Given the description of an element on the screen output the (x, y) to click on. 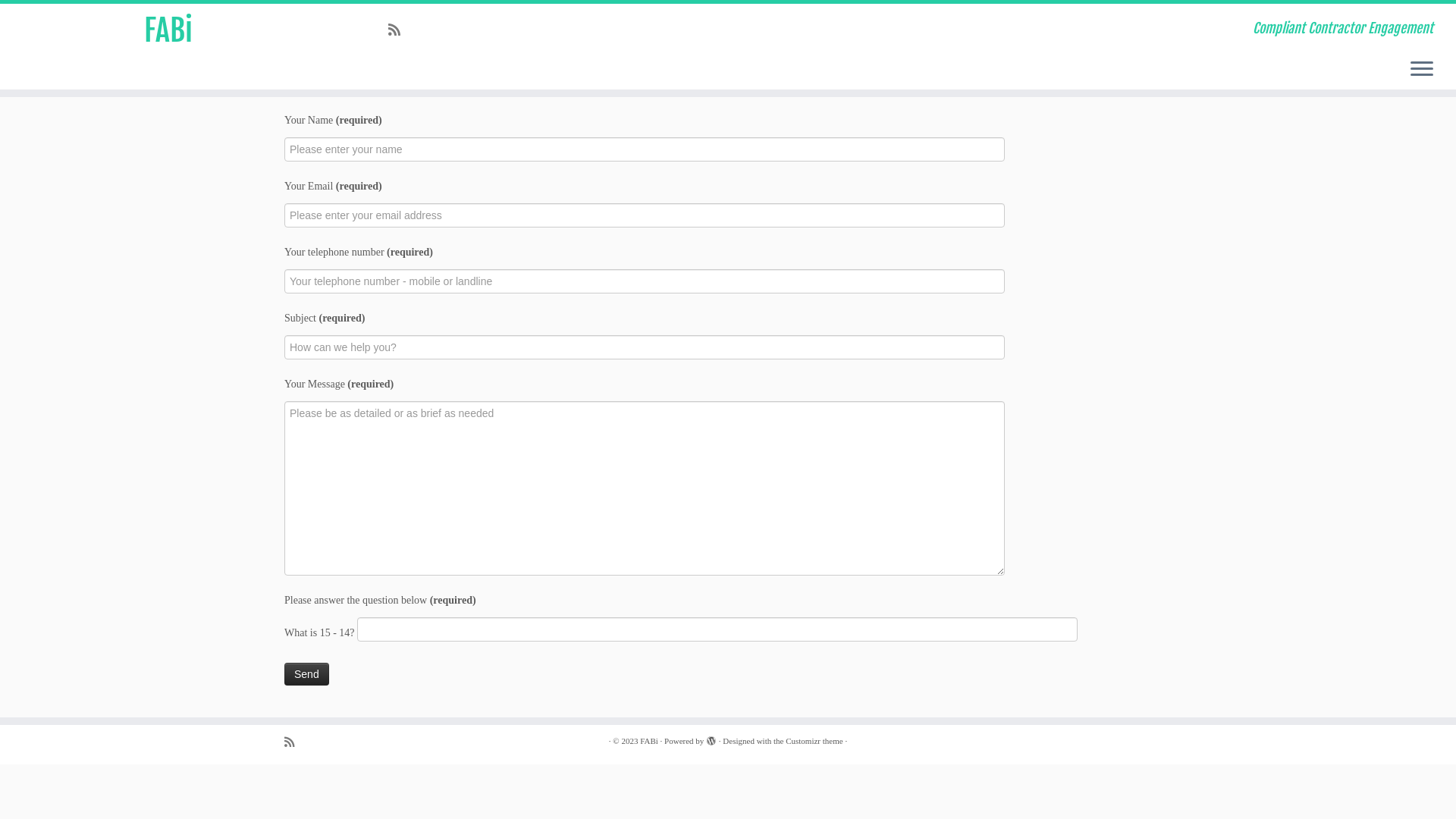
Subscribe to my rss feed Element type: hover (399, 29)
Send Element type: text (306, 673)
Powered by WordPress Element type: hover (711, 738)
Subscribe to my rss feed Element type: hover (294, 741)
Customizr theme Element type: text (813, 741)
Open the menu Element type: hover (1421, 69)
FABi Element type: text (167, 30)
FABi Element type: text (649, 741)
